Given the description of an element on the screen output the (x, y) to click on. 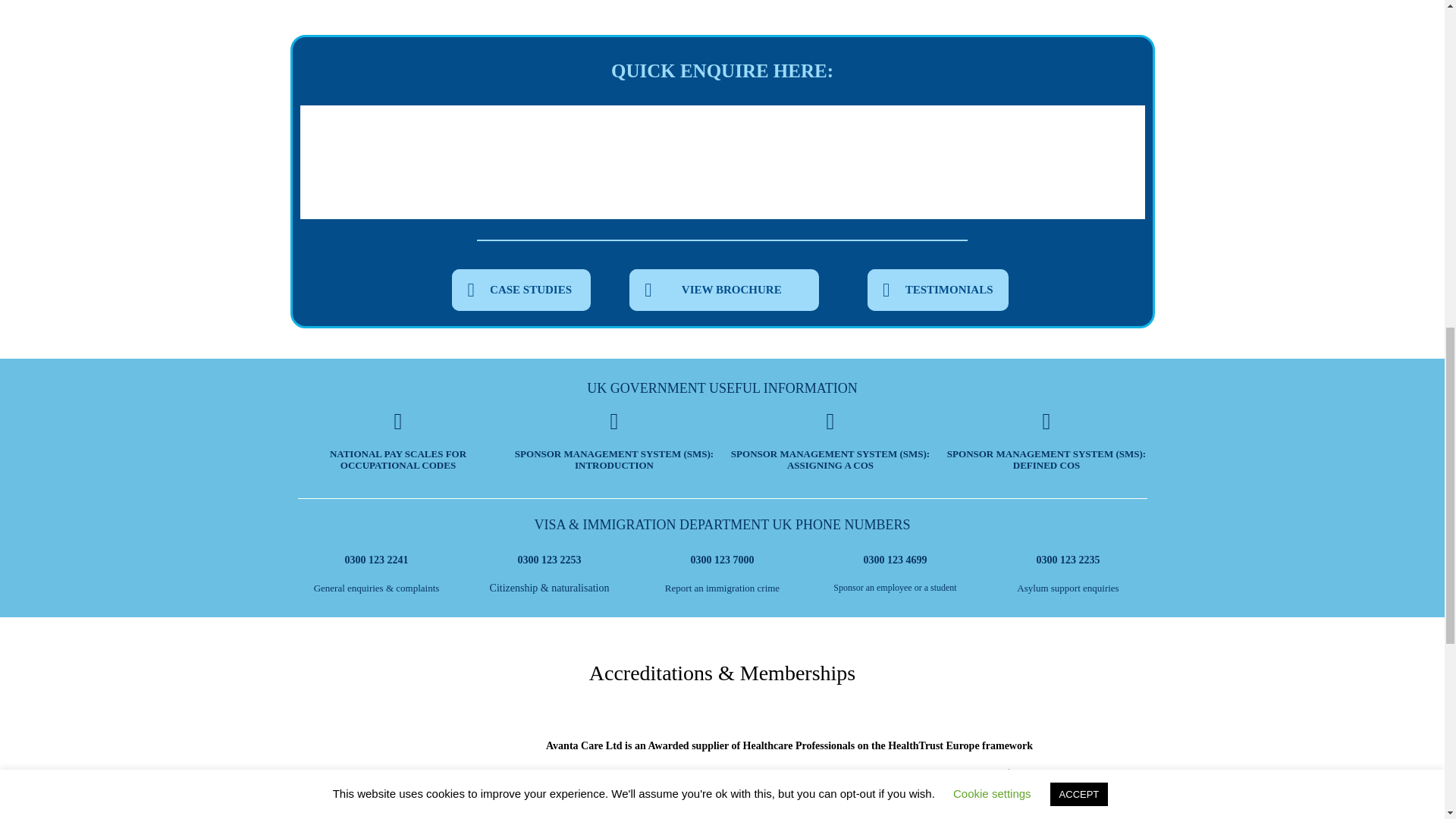
VIEW BROCHURE (723, 290)
CASE STUDIES (521, 290)
TESTIMONIALS (938, 290)
